Given the description of an element on the screen output the (x, y) to click on. 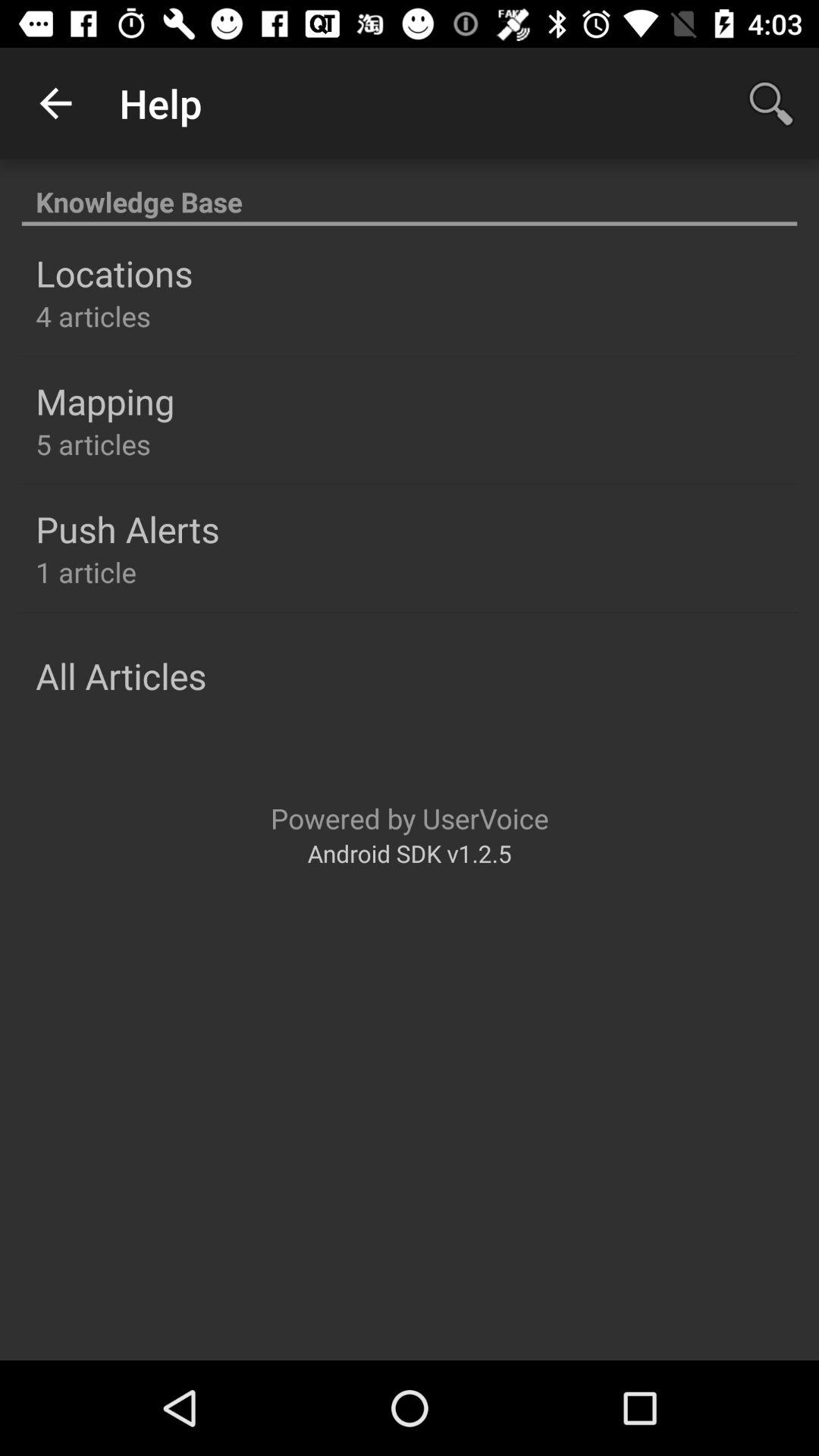
click the icon below knowledge base item (113, 273)
